Given the description of an element on the screen output the (x, y) to click on. 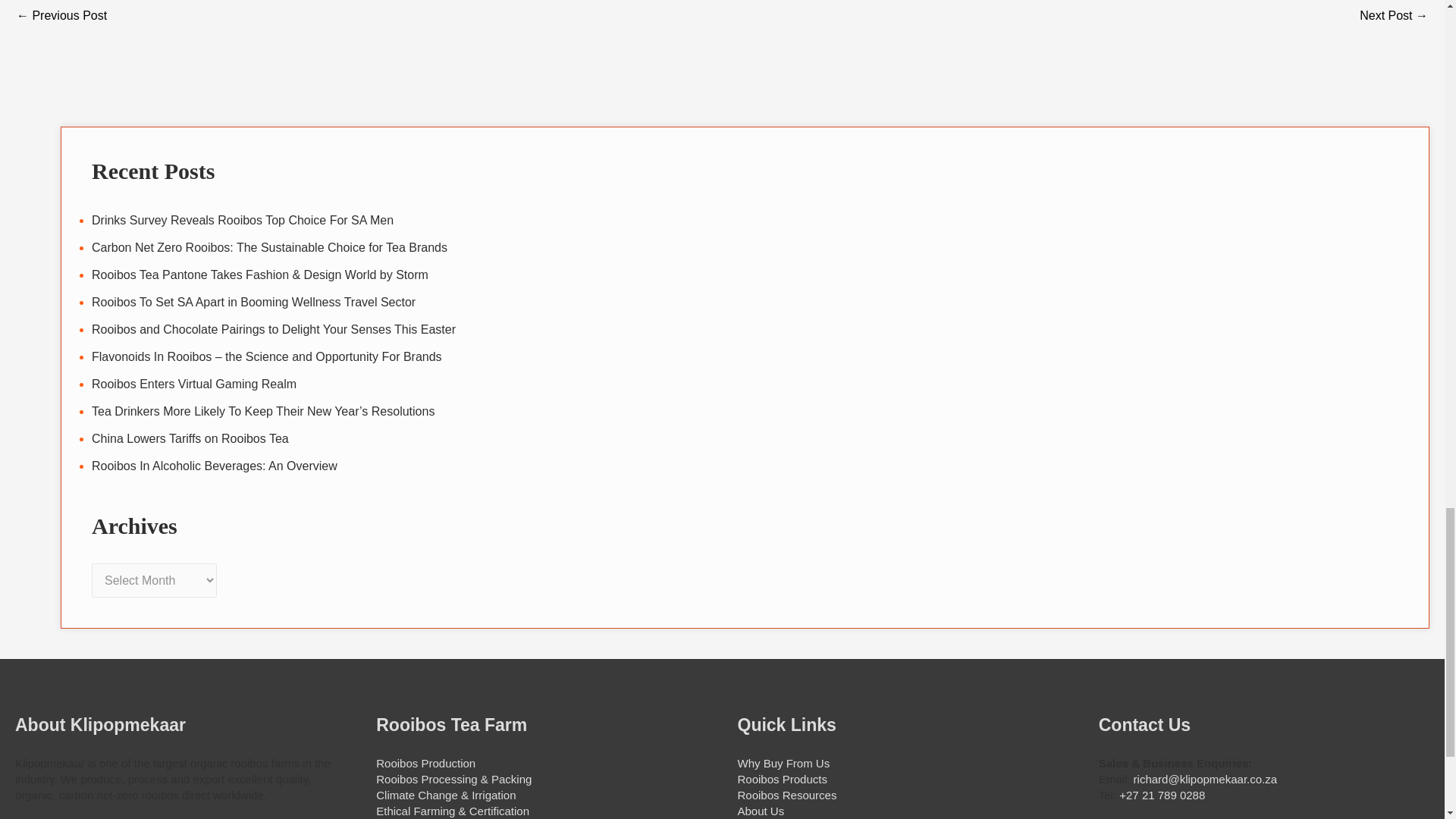
Fire Threatens Biodiversity in Cederberg (1393, 17)
2009 Harvest Looking Good! (61, 17)
